Given the description of an element on the screen output the (x, y) to click on. 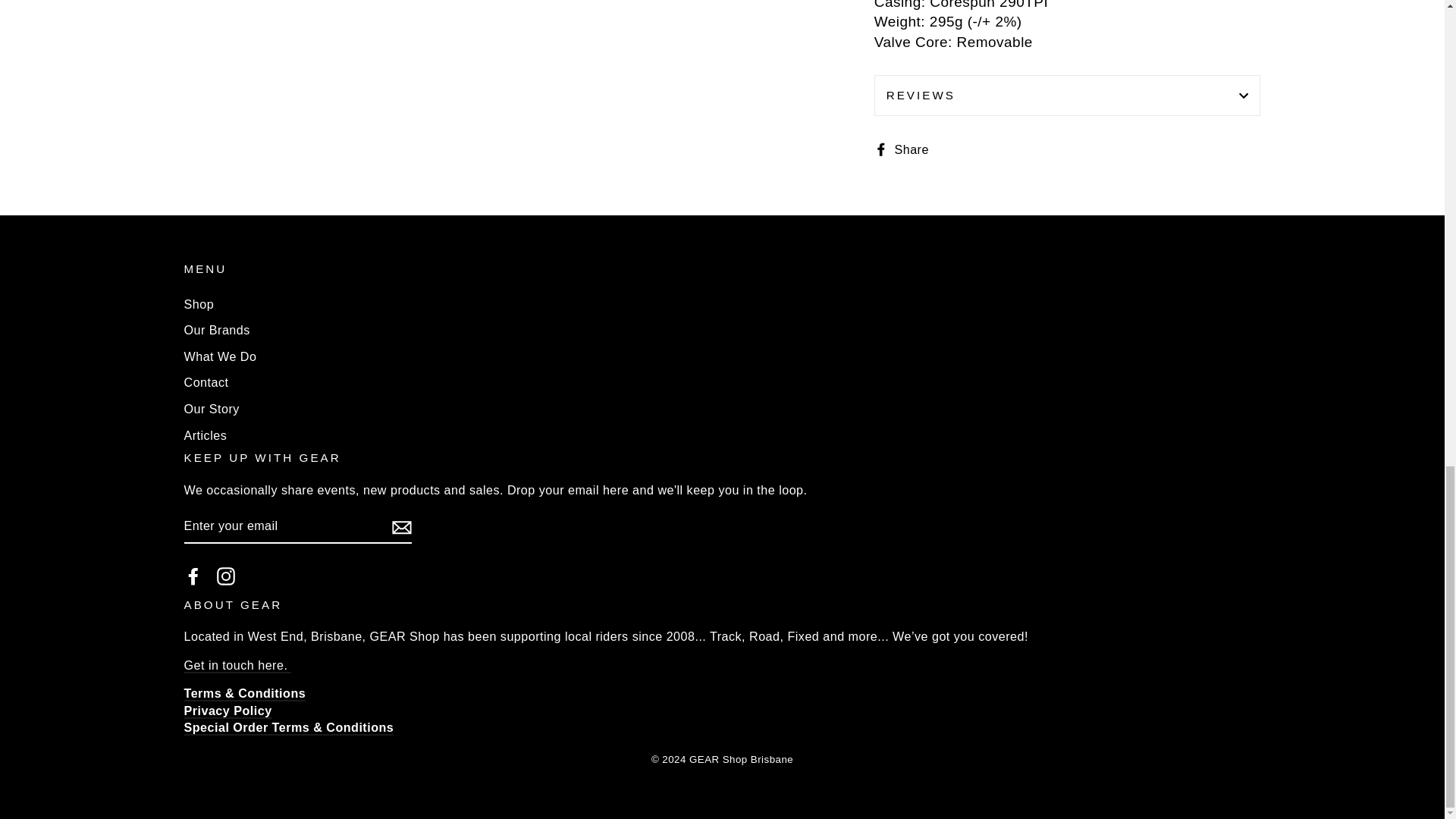
GEAR Shop Brisbane on Instagram (225, 575)
Privacy Policy (226, 711)
Share on Facebook (907, 148)
Contact us (237, 665)
GEAR Shop Brisbane on Facebook (192, 575)
